Given the description of an element on the screen output the (x, y) to click on. 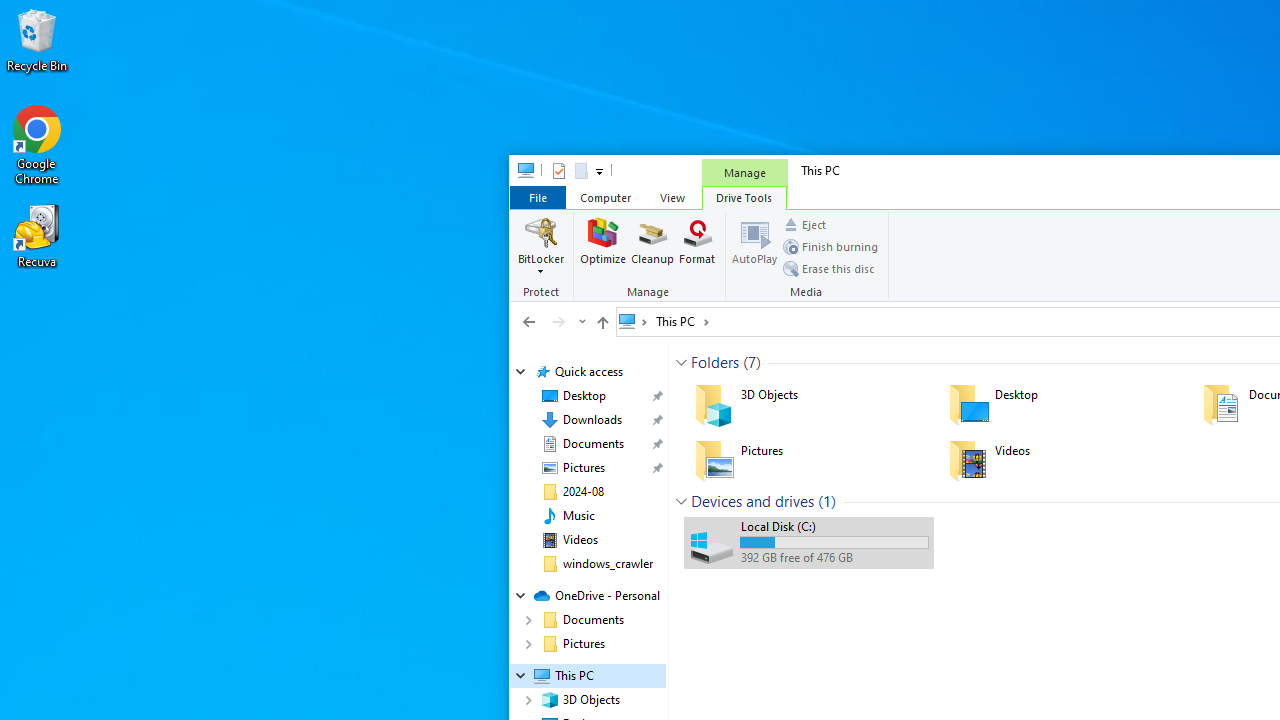
3D Objects (808, 403)
New folder (580, 169)
Erase this disc (828, 268)
Format (698, 246)
